Given the description of an element on the screen output the (x, y) to click on. 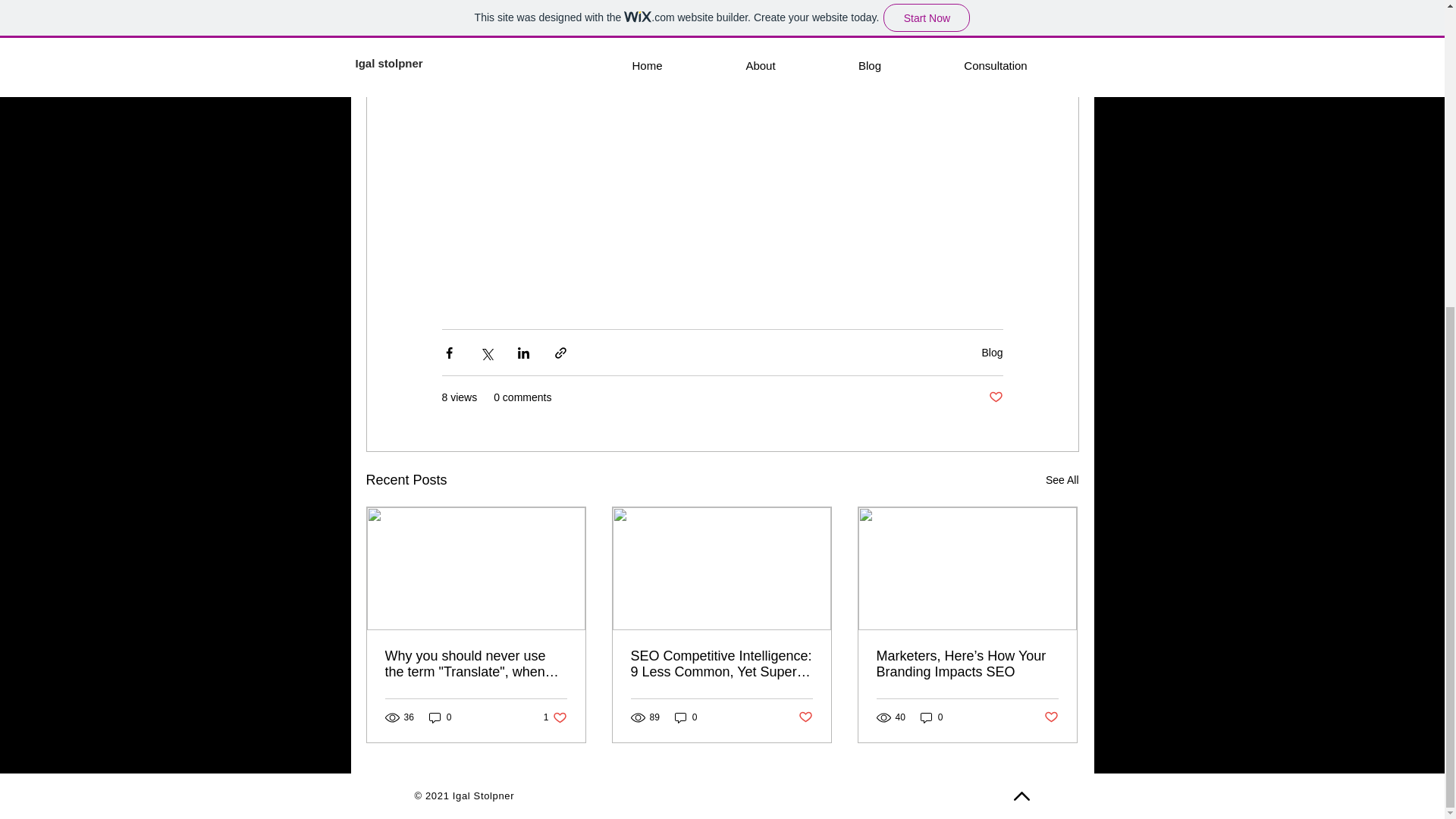
Post not marked as liked (995, 397)
0 (685, 717)
Post not marked as liked (804, 716)
See All (1061, 480)
Post not marked as liked (1050, 716)
Blog (555, 717)
0 (992, 352)
